Given the description of an element on the screen output the (x, y) to click on. 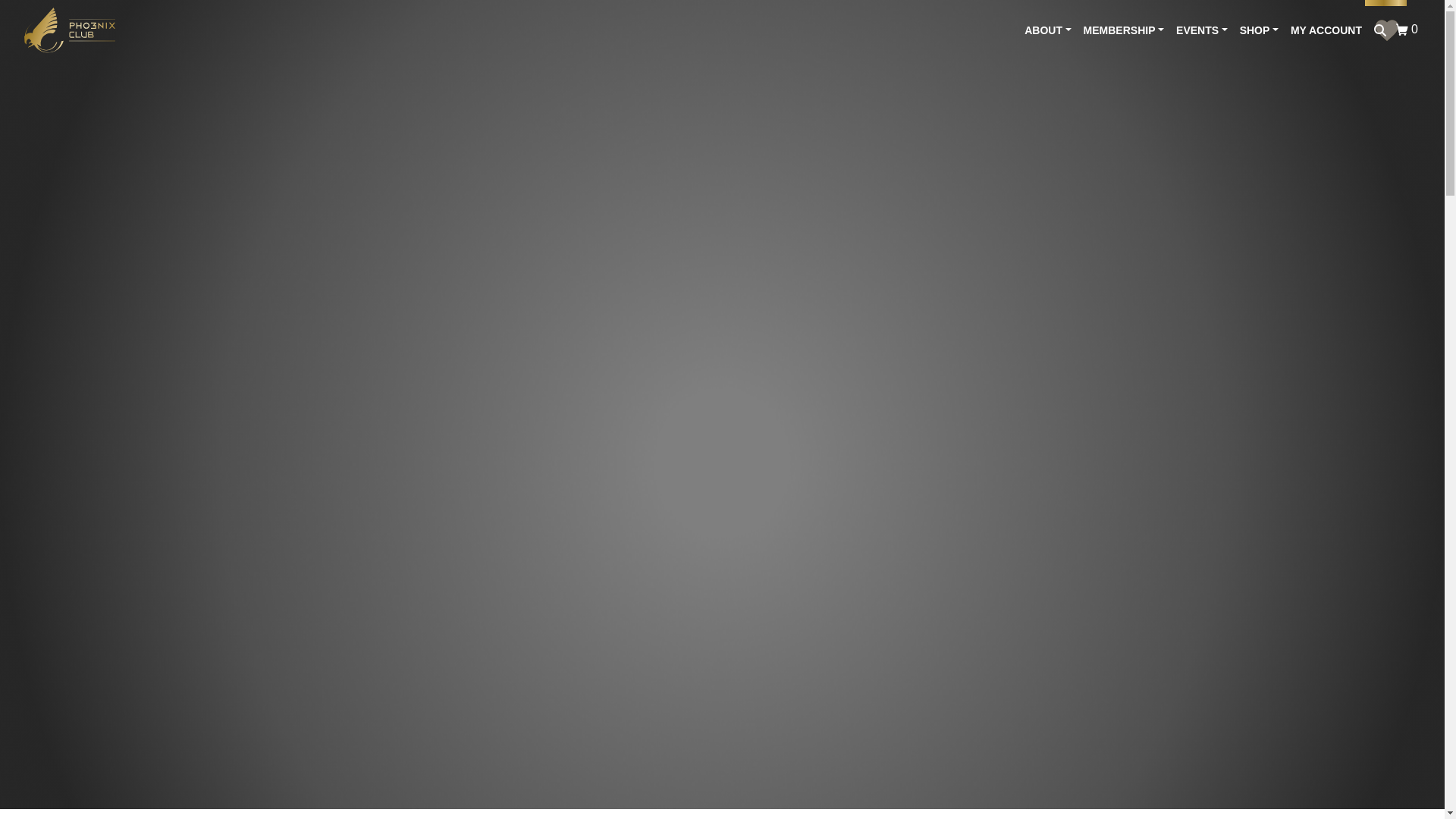
MEMBERSHIP (1123, 30)
Shop (1258, 30)
Search (1380, 30)
EVENTS (1201, 30)
MY ACCOUNT (1326, 30)
Events (1201, 30)
SHOP (1408, 29)
Membership (1258, 30)
About (1123, 30)
